Given the description of an element on the screen output the (x, y) to click on. 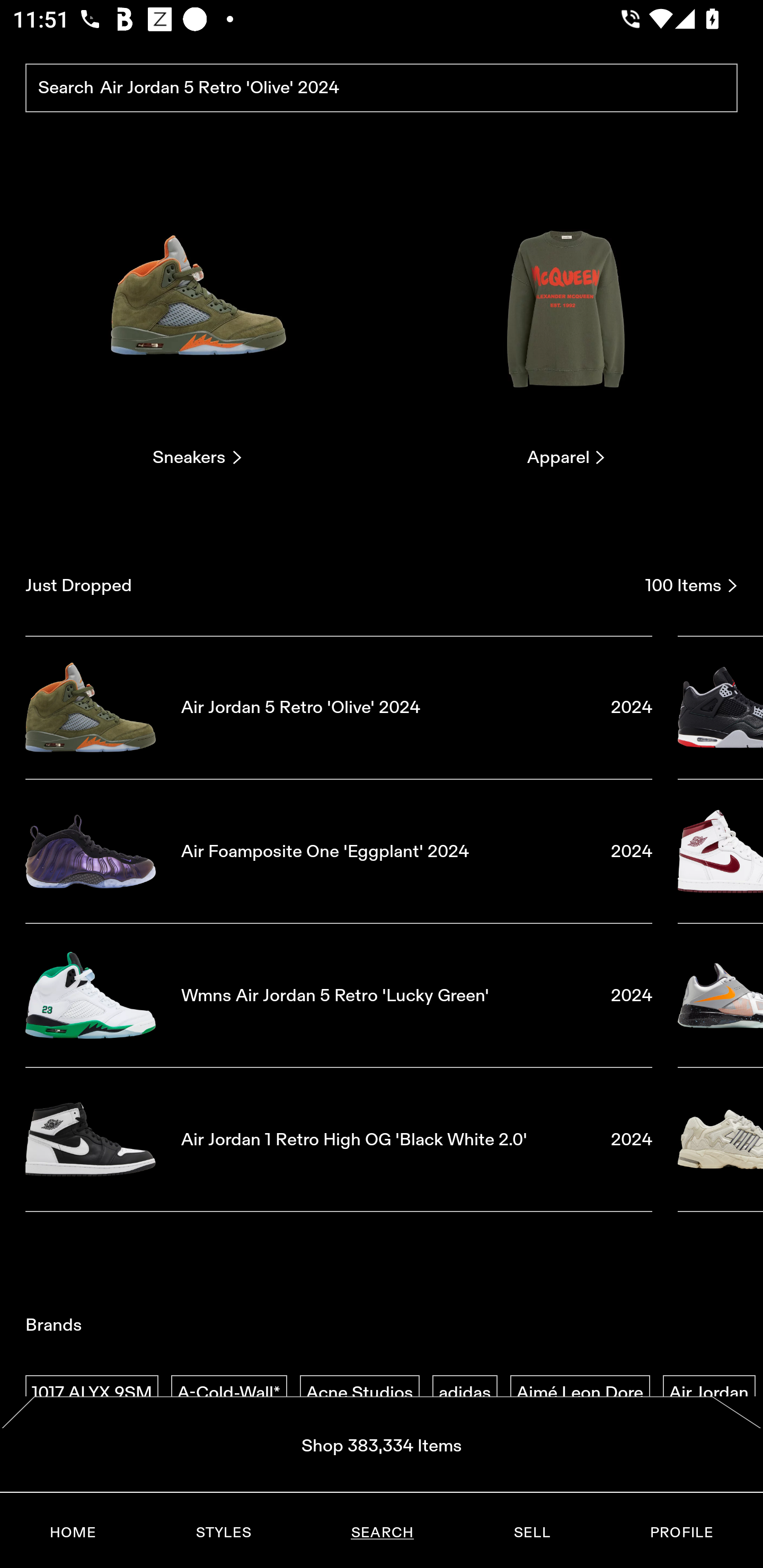
Search (381, 88)
Sneakers (196, 323)
Apparel (565, 323)
Just Dropped (328, 585)
100 Items (691, 585)
Air Jordan 5 Retro 'Olive' 2024 2024 (338, 707)
Air Foamposite One 'Eggplant' 2024 2024 (338, 851)
Wmns Air Jordan 5 Retro 'Lucky Green' 2024 (338, 995)
Air Jordan 1 Retro High OG 'Black White 2.0' 2024 (338, 1139)
1017 ALYX 9SM (91, 1393)
A-Cold-Wall* (228, 1393)
Acne Studios (359, 1393)
adidas (464, 1393)
Aimé Leon Dore (580, 1393)
Air Jordan (709, 1393)
HOME (72, 1532)
STYLES (222, 1532)
SEARCH (381, 1532)
SELL (531, 1532)
PROFILE (681, 1532)
